Given the description of an element on the screen output the (x, y) to click on. 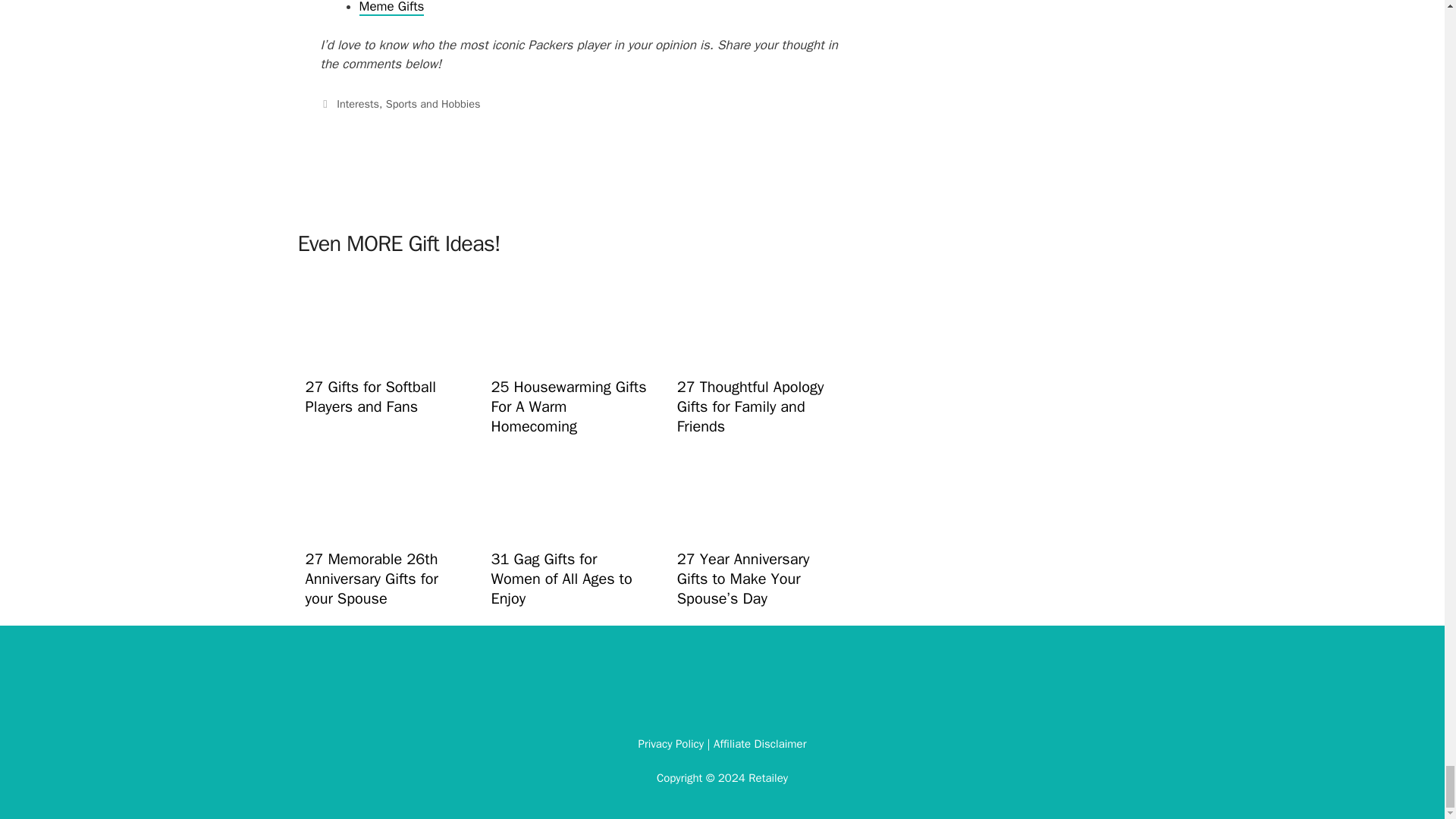
Sports and Hobbies (432, 103)
Interests (357, 103)
Meme Gifts (392, 7)
